Given the description of an element on the screen output the (x, y) to click on. 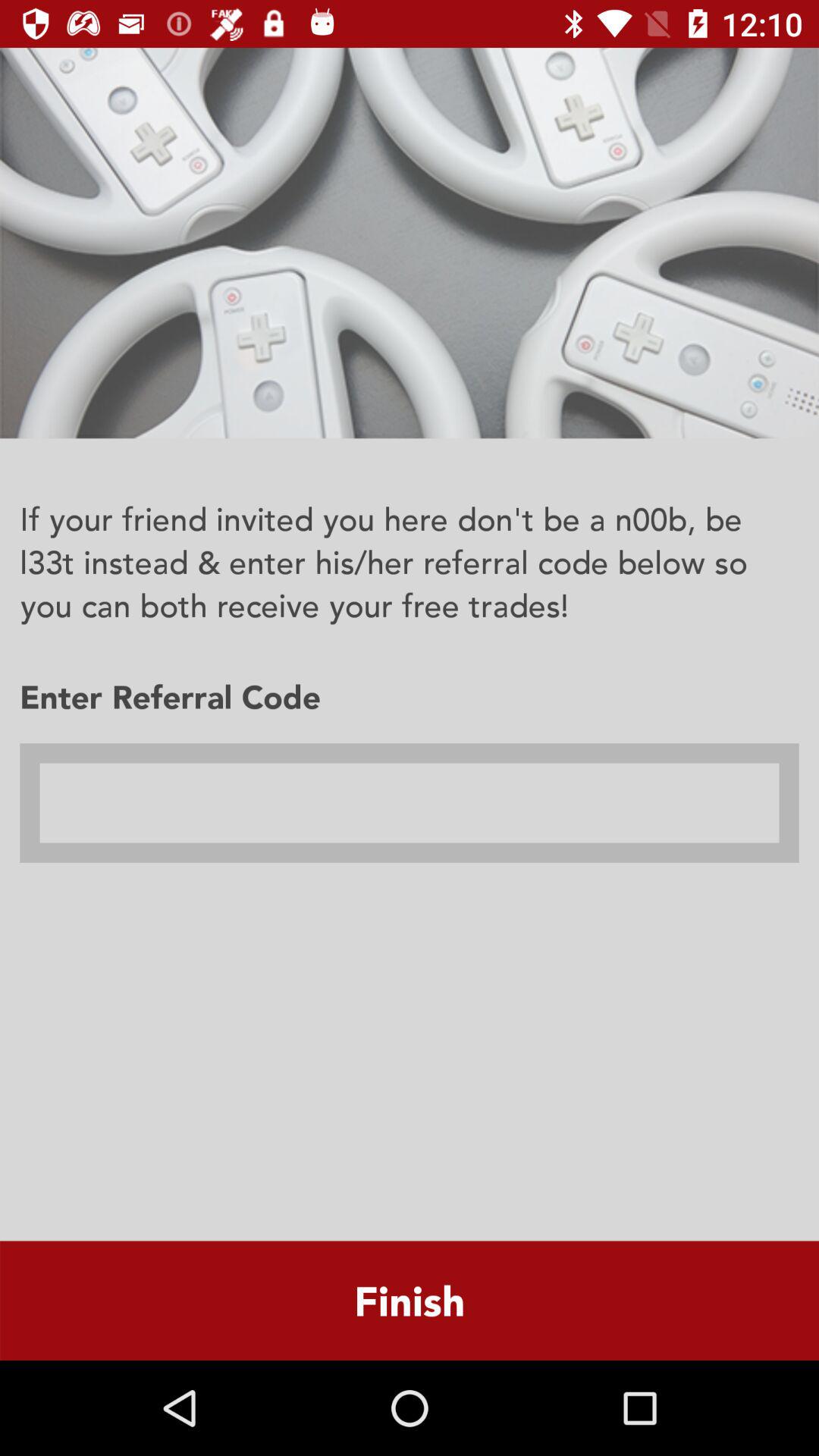
launch the finish item (409, 1300)
